Given the description of an element on the screen output the (x, y) to click on. 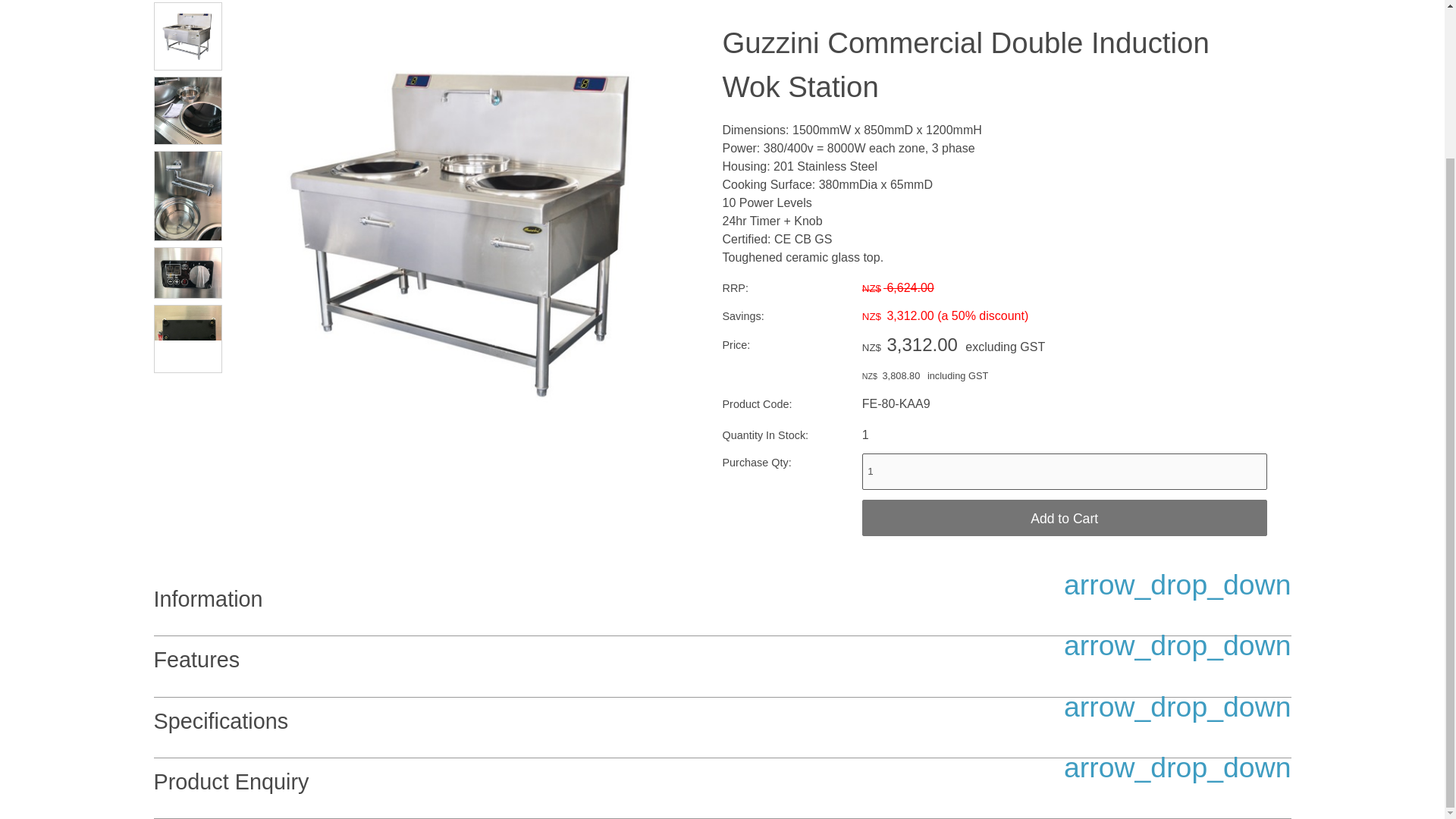
Guzzini Commercial Double Induction Wok Station (464, 461)
1 (1063, 471)
Add to Cart (1063, 517)
